Given the description of an element on the screen output the (x, y) to click on. 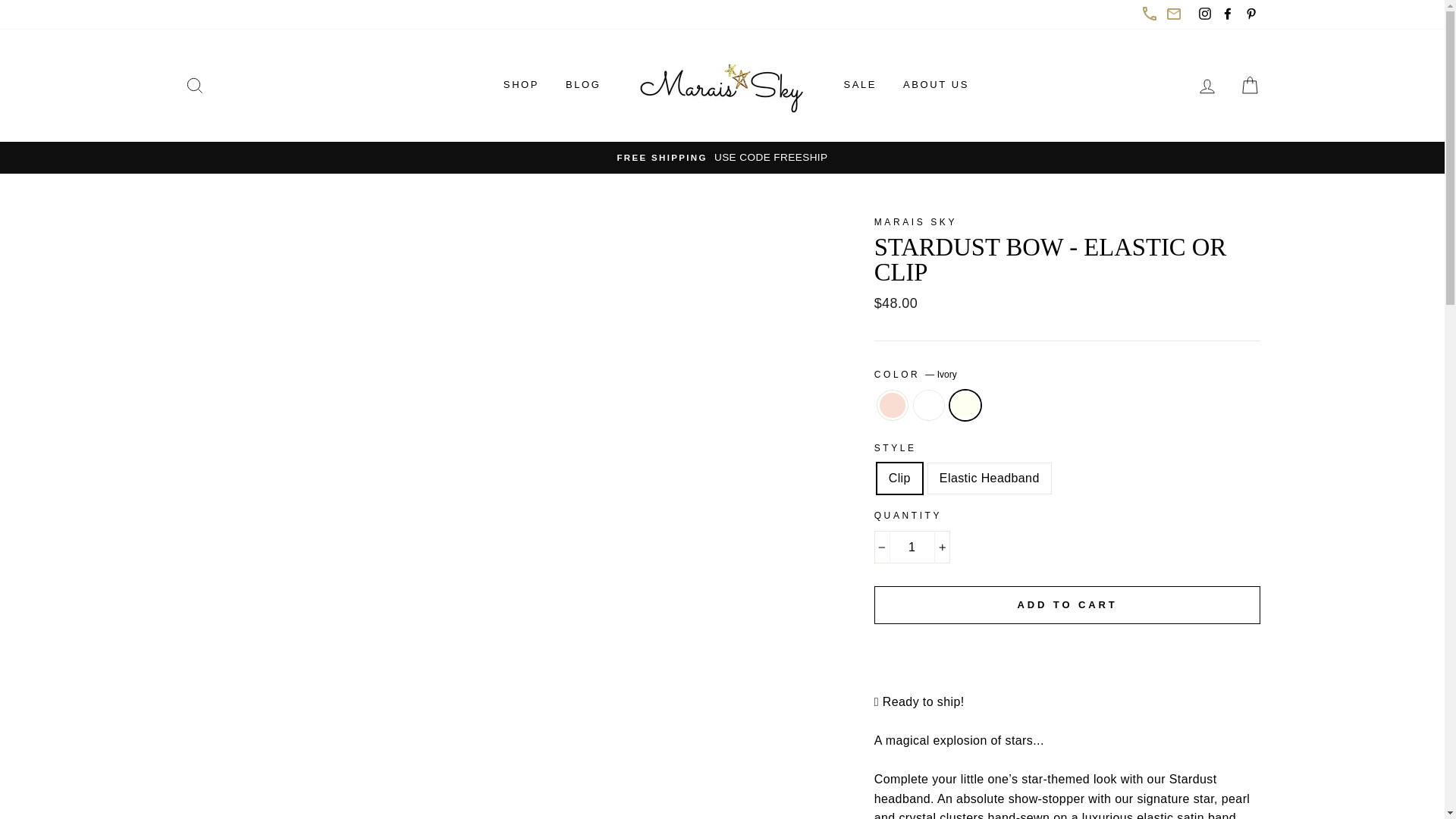
Marais Sky on Pinterest (1250, 15)
1 (912, 547)
Marais Sky on Facebook (1227, 15)
Marais Sky on Instagram (1204, 15)
